Given the description of an element on the screen output the (x, y) to click on. 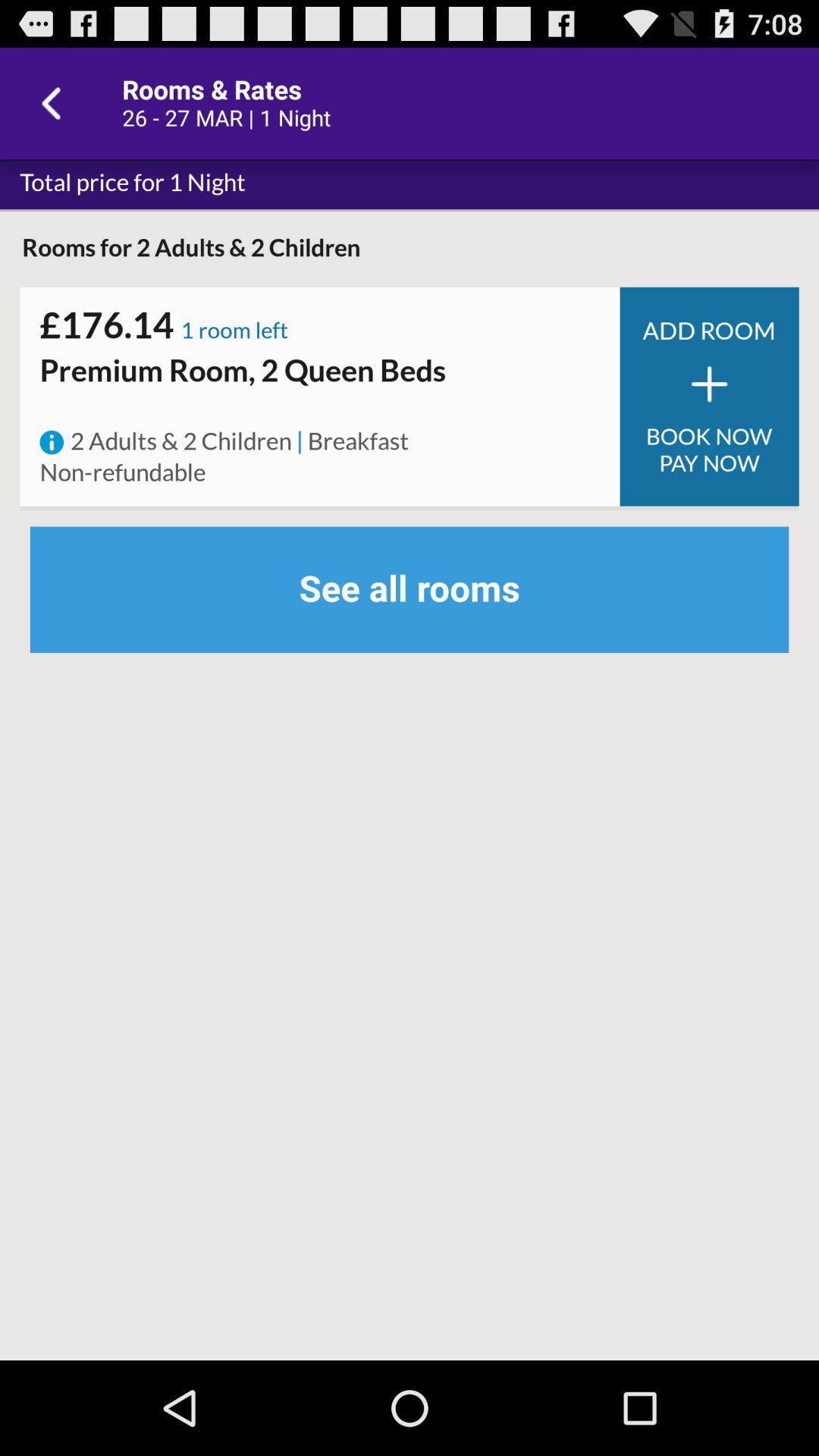
choose icon to the left of the 1 room left (106, 324)
